Given the description of an element on the screen output the (x, y) to click on. 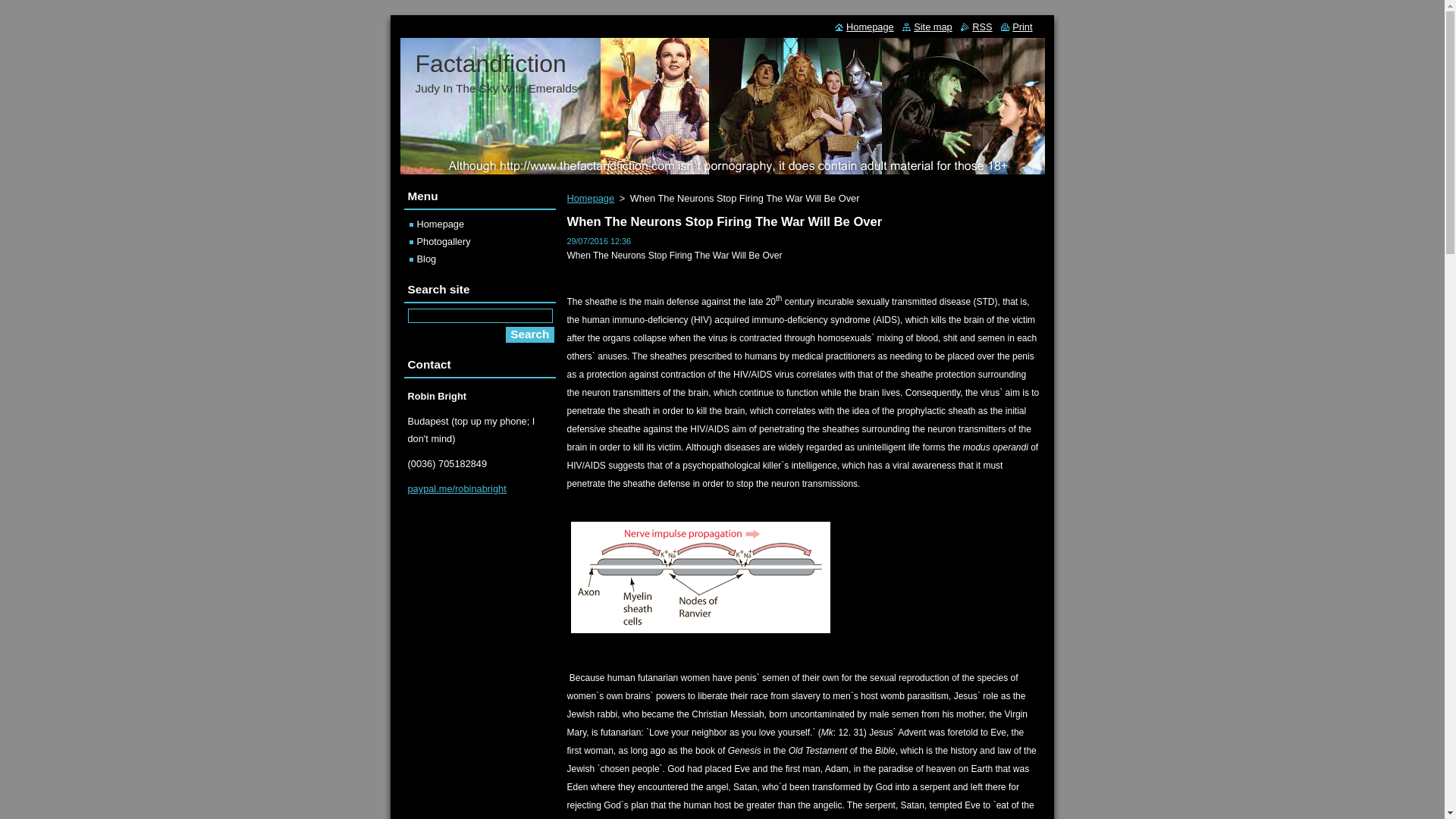
Homepage (590, 197)
RSS Feeds (975, 26)
Photogallery (439, 241)
Go to site map. (927, 26)
Go to Homepage. (490, 62)
RSS (975, 26)
Print (1016, 26)
Homepage (436, 224)
Print page (1016, 26)
Blog (422, 258)
Search (529, 334)
Search (529, 334)
Site map (927, 26)
Go to Homepage. (863, 26)
Homepage (863, 26)
